Given the description of an element on the screen output the (x, y) to click on. 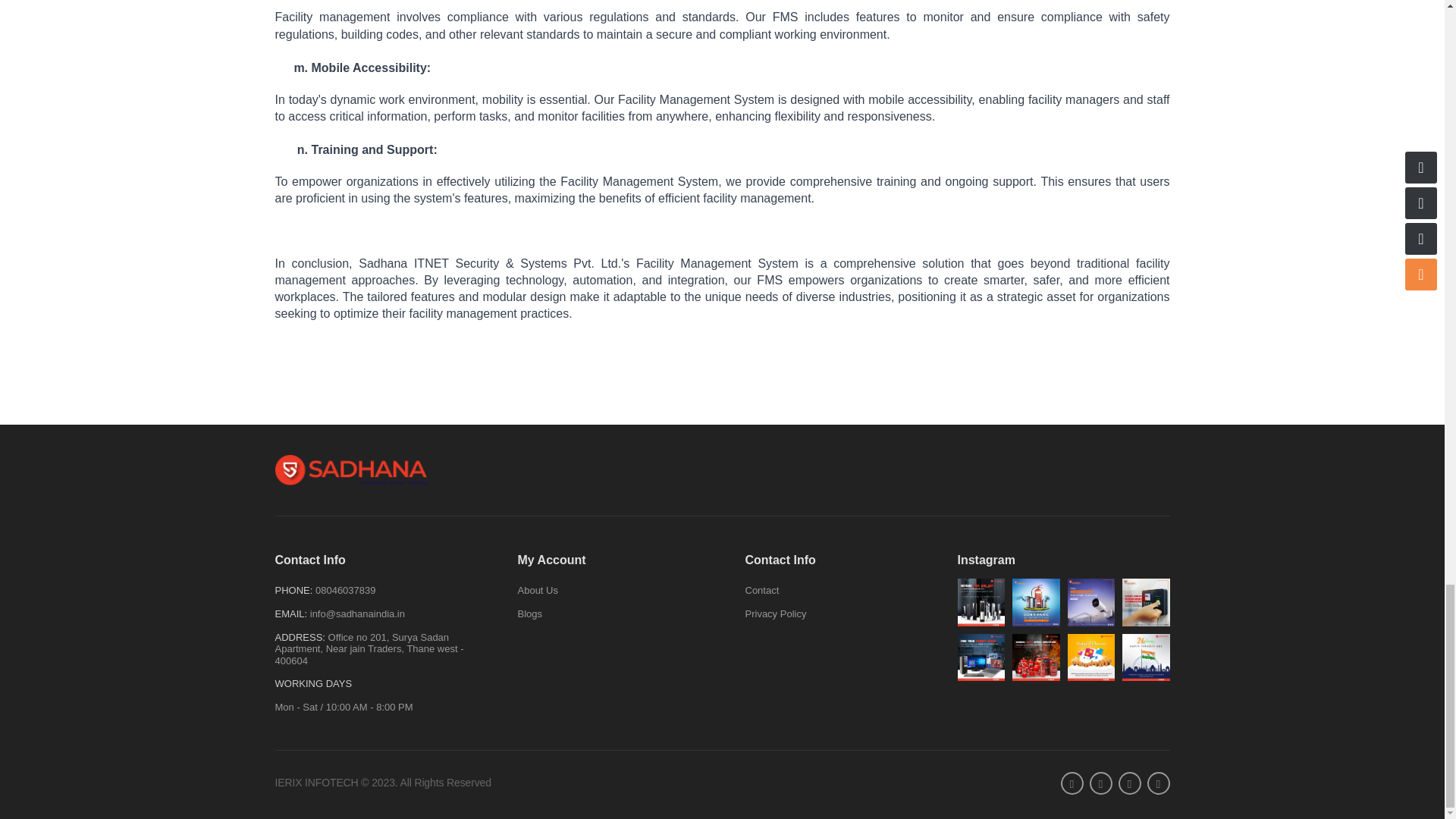
twitter (1100, 783)
facebook (1071, 783)
youtube (1158, 783)
instagram (1129, 783)
